Given the description of an element on the screen output the (x, y) to click on. 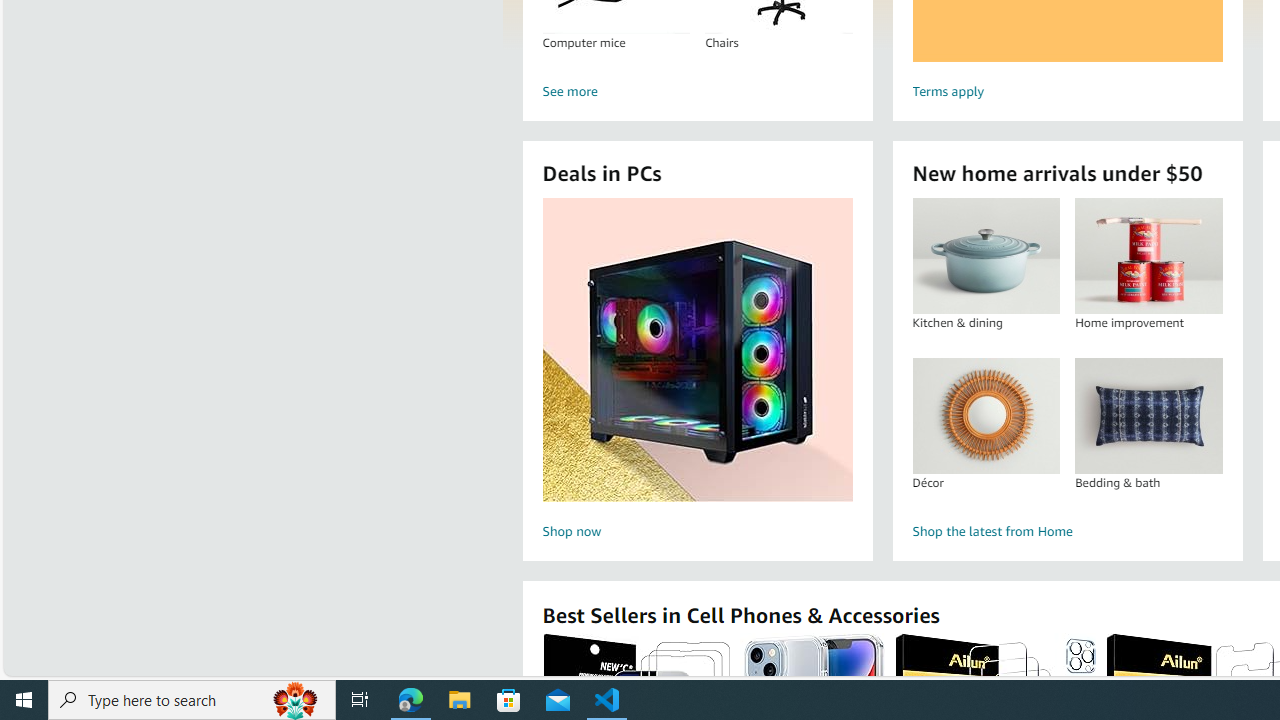
Bedding & bath (1148, 415)
remote (17, 668)
No Problems (67, 668)
Kitchen & dining (985, 256)
Microsoft Store (509, 699)
Bedding & bath (1148, 415)
Home improvement (1148, 256)
Terminal (Ctrl+`) (602, 228)
Task View (359, 699)
Outline Section (175, 624)
No Ports Forwarded (120, 668)
Search highlights icon opens search home window (295, 699)
Accounts (24, 585)
